Given the description of an element on the screen output the (x, y) to click on. 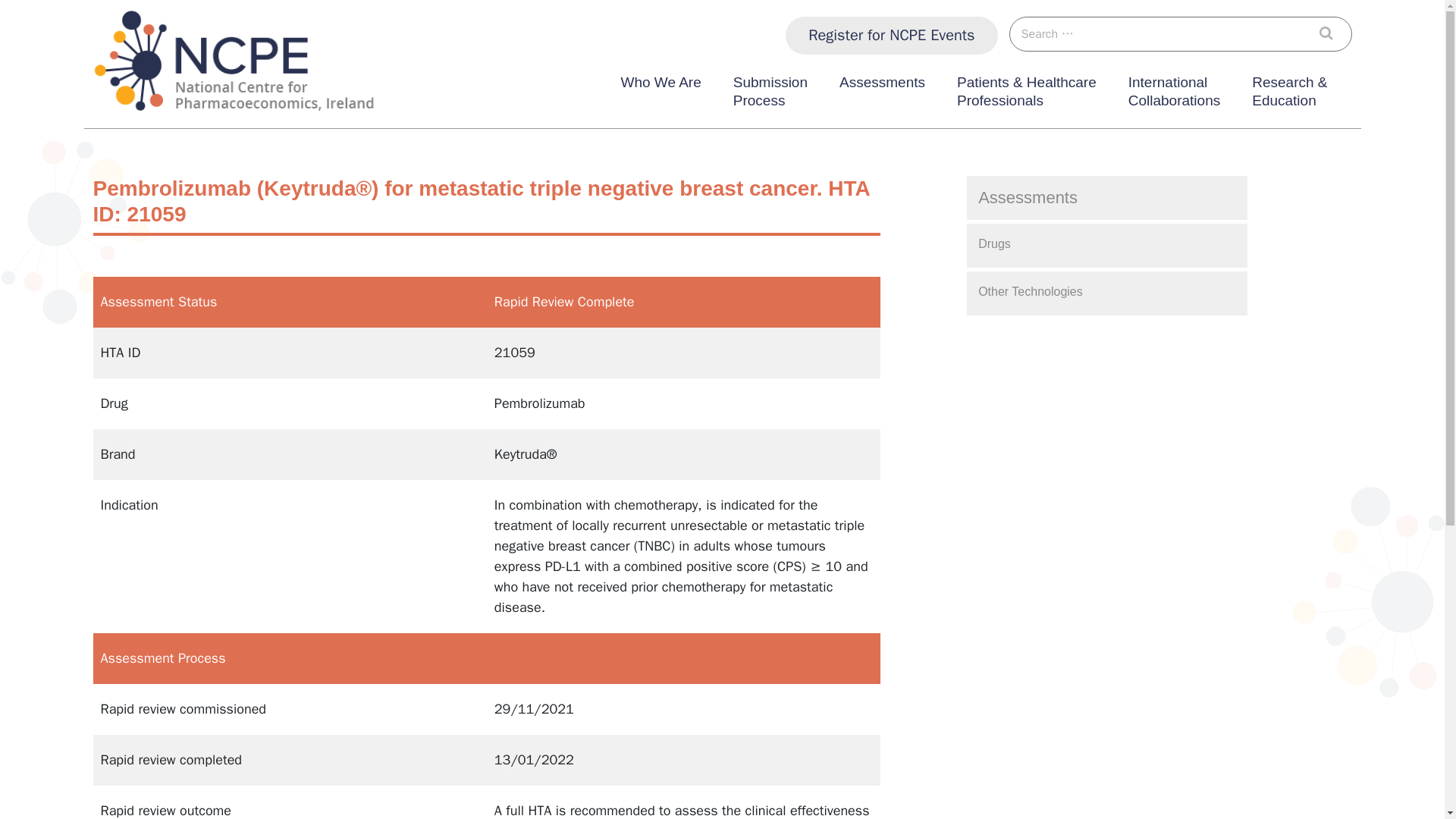
Register for NCPE Events (770, 94)
National Centre for Pharmacoeconomics (891, 35)
Search (212, 126)
Search (1330, 33)
Assessments (1174, 94)
Who We Are (1330, 33)
Search (882, 94)
